Given the description of an element on the screen output the (x, y) to click on. 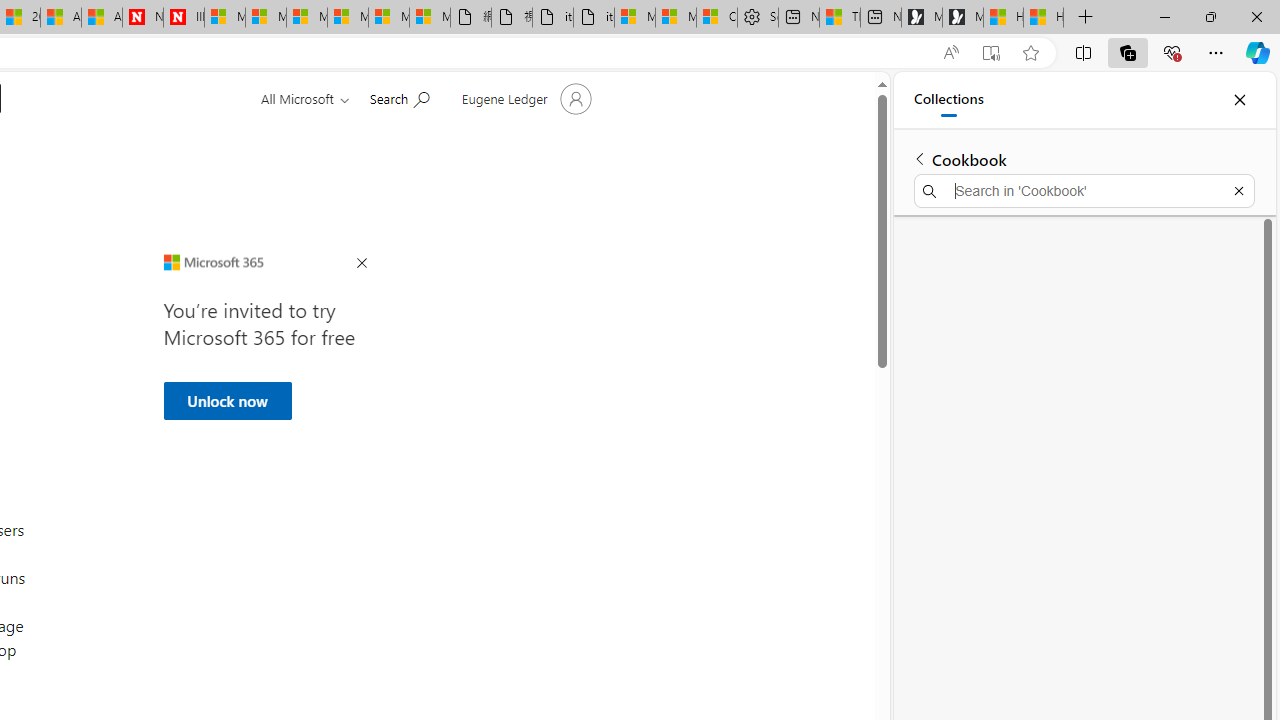
Account manager for Eugene Ledger (524, 98)
Newsweek - News, Analysis, Politics, Business, Technology (142, 17)
Back to list of collections (920, 158)
